Given the description of an element on the screen output the (x, y) to click on. 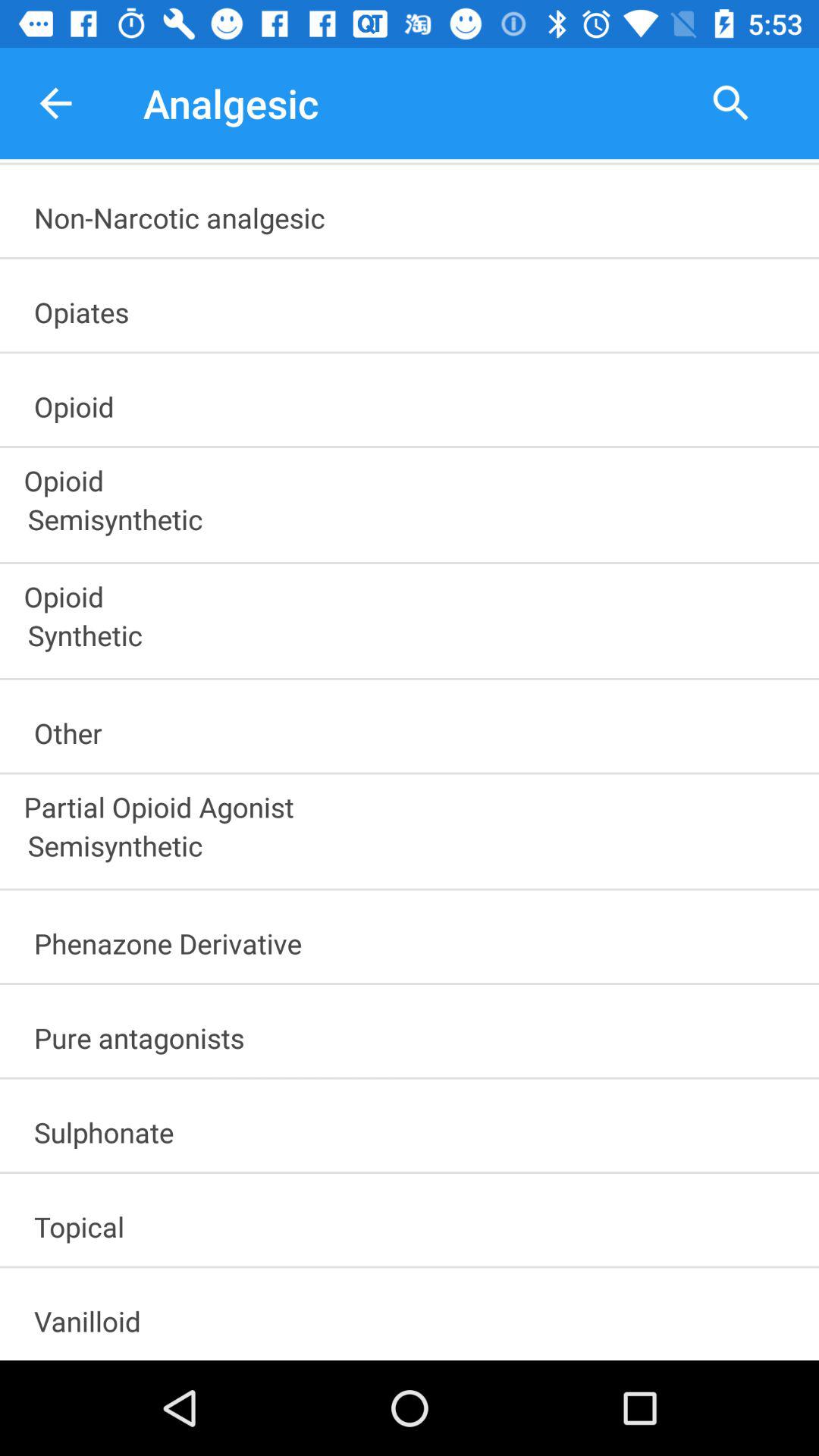
flip to pure antagonists item (416, 1032)
